Given the description of an element on the screen output the (x, y) to click on. 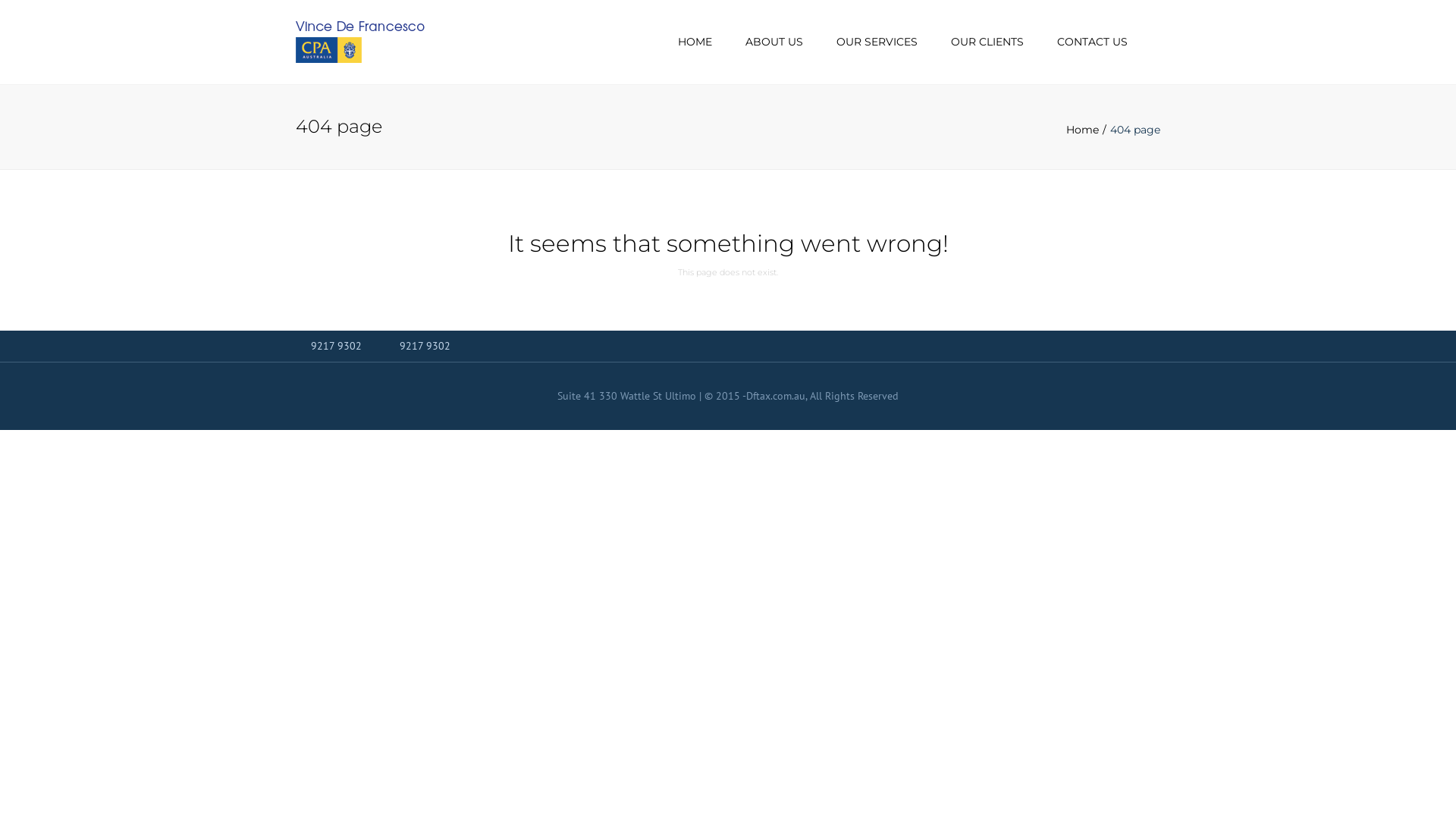
ABOUT US Element type: text (773, 41)
OUR CLIENTS Element type: text (987, 41)
Home Element type: text (1088, 129)
HOME Element type: text (694, 41)
OUR SERVICES Element type: text (876, 41)
CONTACT US Element type: text (1092, 41)
